Given the description of an element on the screen output the (x, y) to click on. 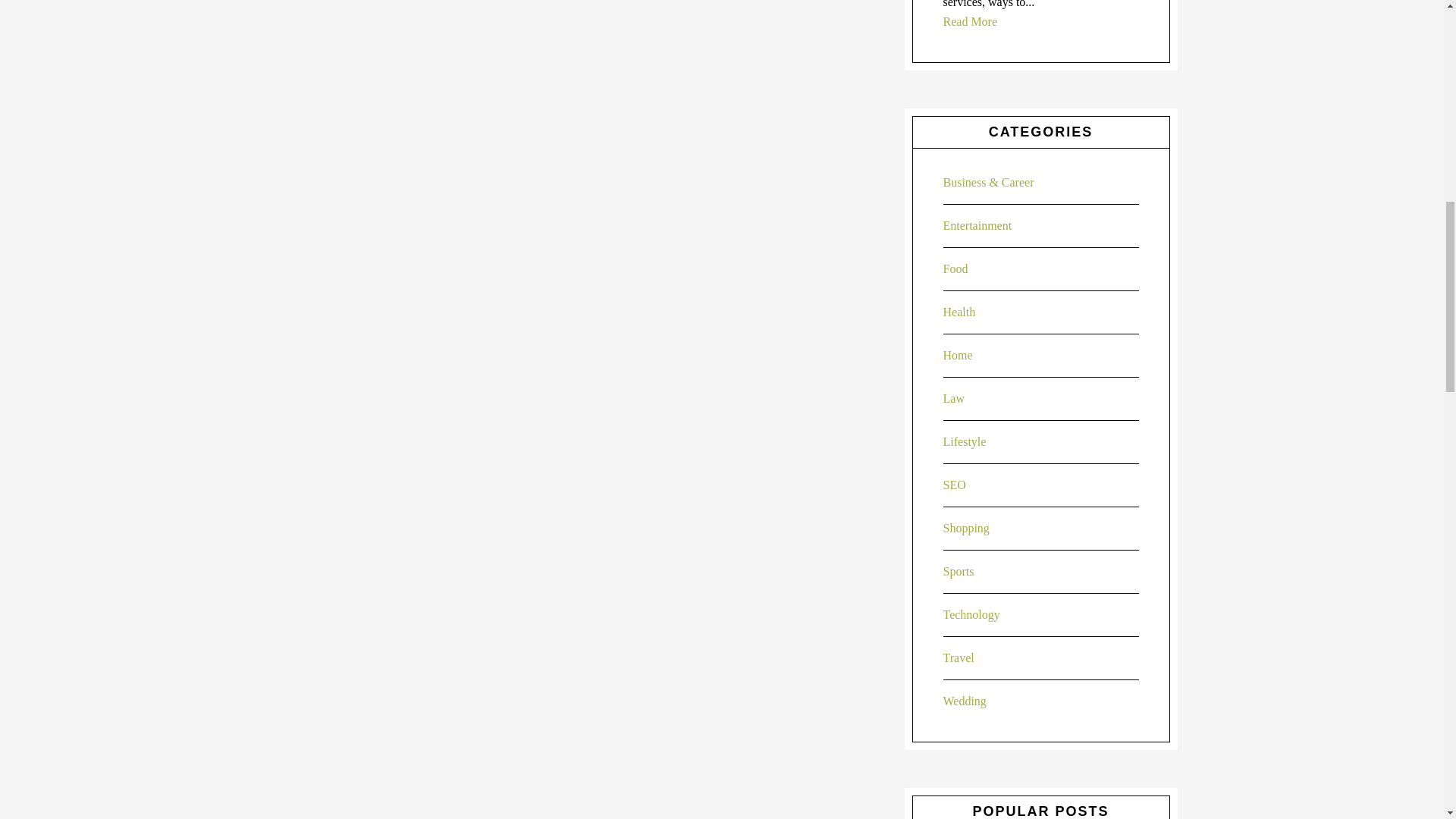
Home (957, 354)
Travel (958, 657)
Wedding (965, 700)
Read More (970, 21)
Food (955, 268)
Health (959, 311)
Law (953, 398)
SEO (954, 484)
Shopping (966, 527)
Technology (971, 614)
Lifestyle (965, 440)
Entertainment (977, 225)
Sports (958, 571)
